Given the description of an element on the screen output the (x, y) to click on. 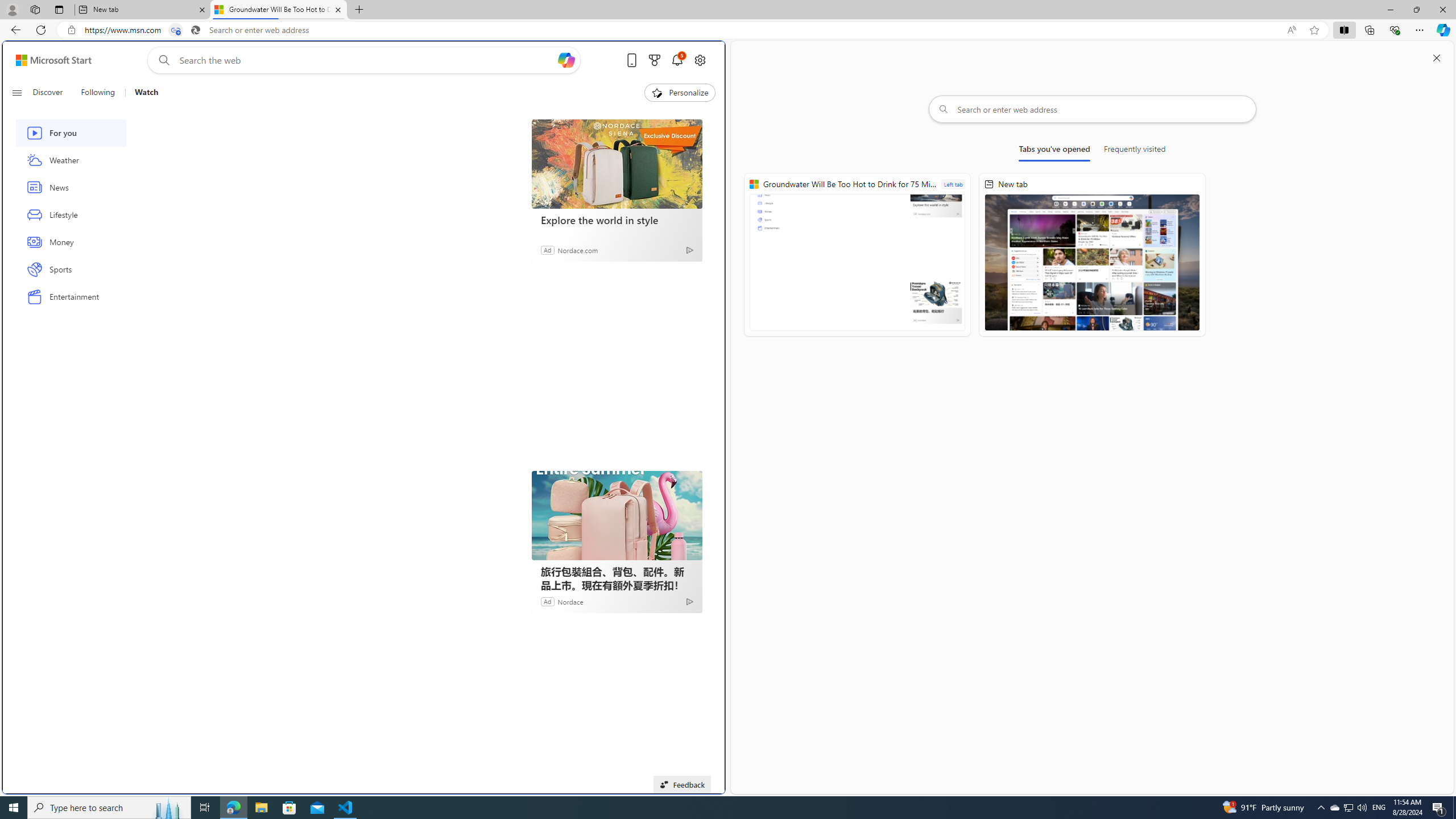
Watch (141, 92)
Web search (161, 60)
Close (1442, 9)
Tab actions menu (58, 9)
Personalize (679, 92)
Search icon (195, 29)
View site information (70, 29)
Following (98, 92)
Workspaces (34, 9)
Explore the world in style (616, 163)
Split screen (1344, 29)
New tab (1092, 254)
Open Copilot (566, 59)
Close split screen (1436, 57)
Class: button-glyph (16, 92)
